Given the description of an element on the screen output the (x, y) to click on. 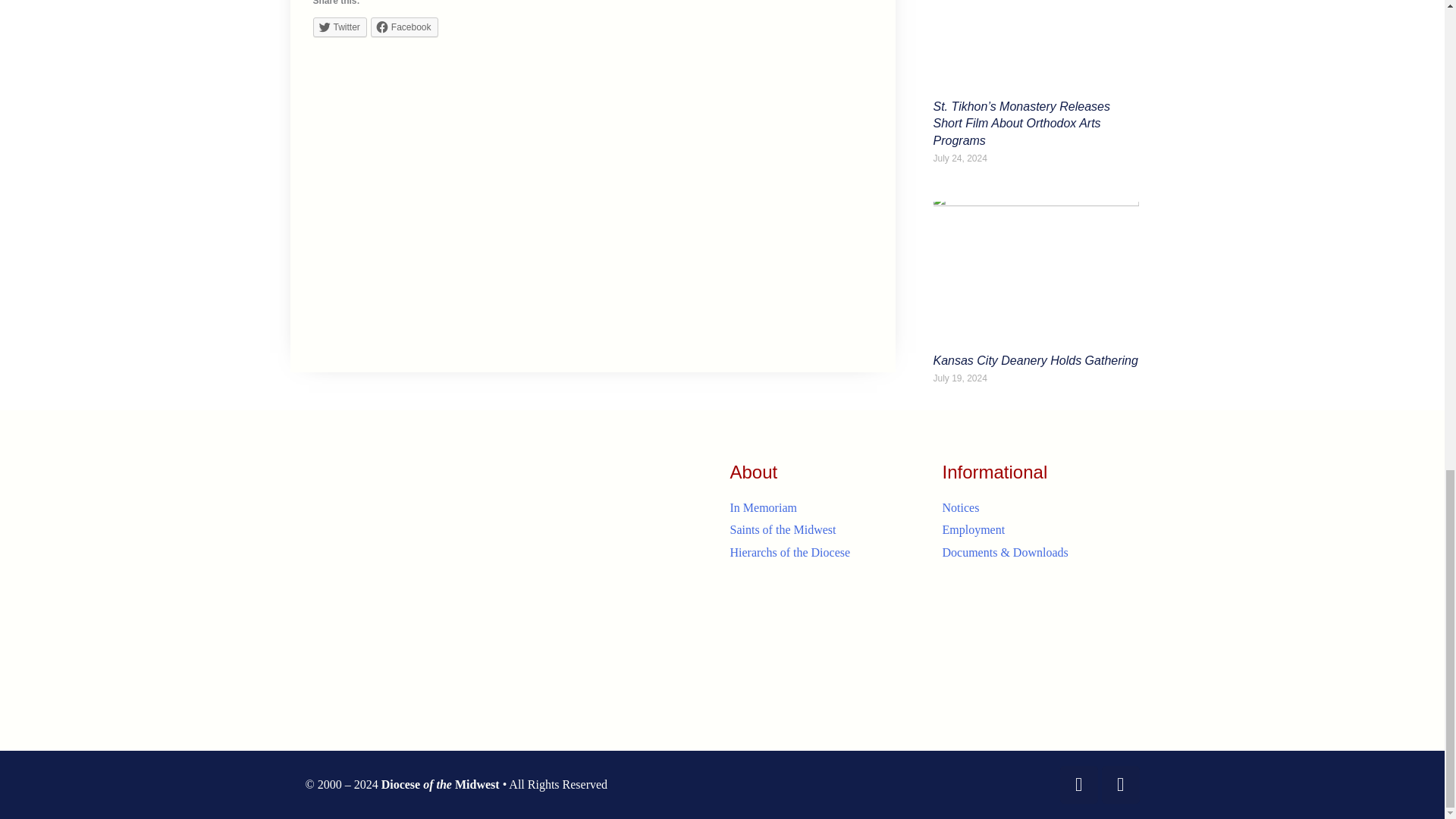
Click to share on Twitter (339, 26)
Click to share on Facebook (404, 26)
